Given the description of an element on the screen output the (x, y) to click on. 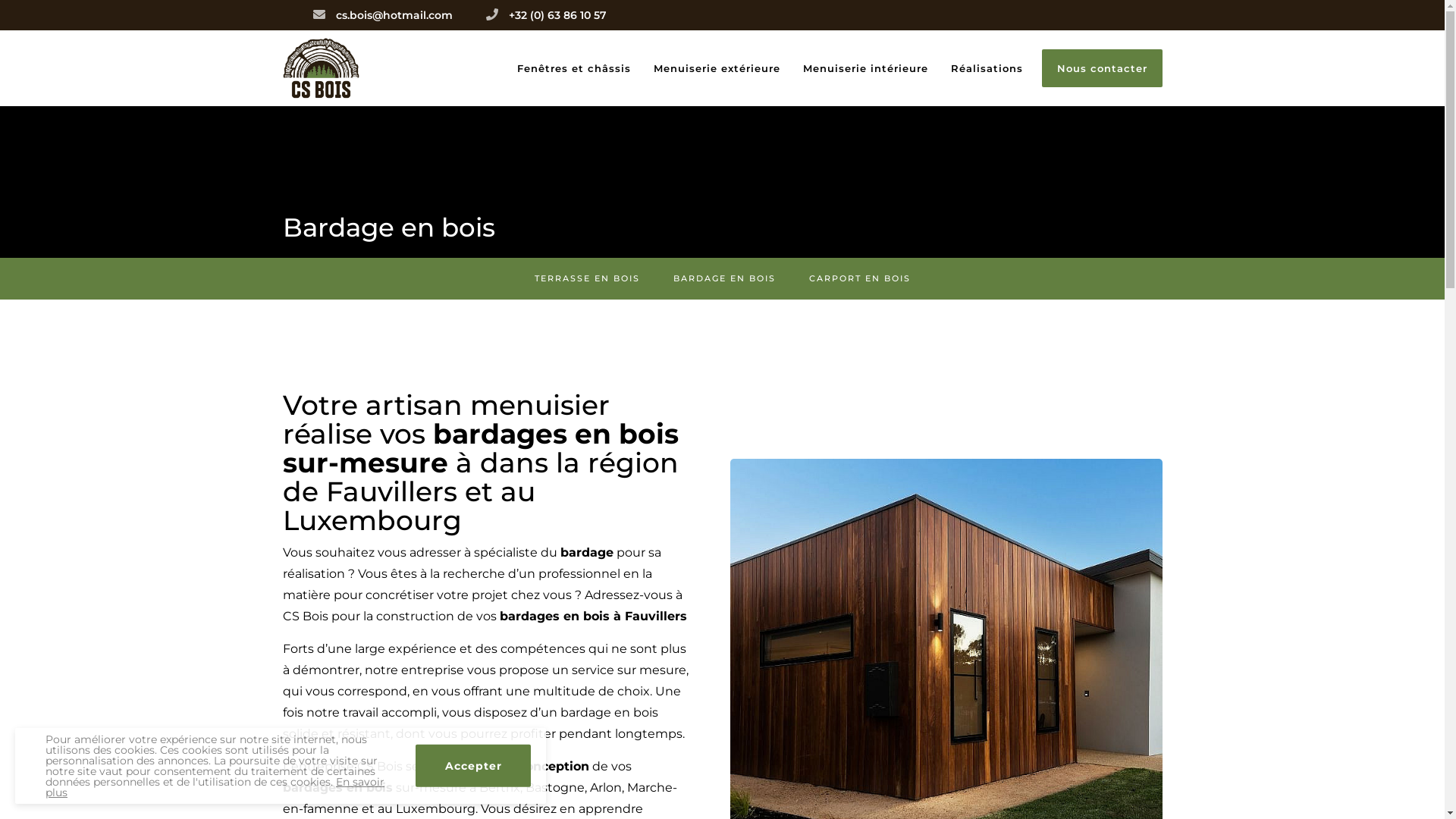
+32 (0) 63 86 10 57 Element type: text (556, 14)
BARDAGE EN BOIS Element type: text (724, 278)
Nous contacter Element type: text (1101, 68)
Accepter Element type: text (472, 765)
TERRASSE EN BOIS Element type: text (586, 278)
cs.bois@hotmail.com Element type: text (393, 14)
En savoir plus Element type: text (214, 787)
CARPORT EN BOIS Element type: text (859, 278)
